Given the description of an element on the screen output the (x, y) to click on. 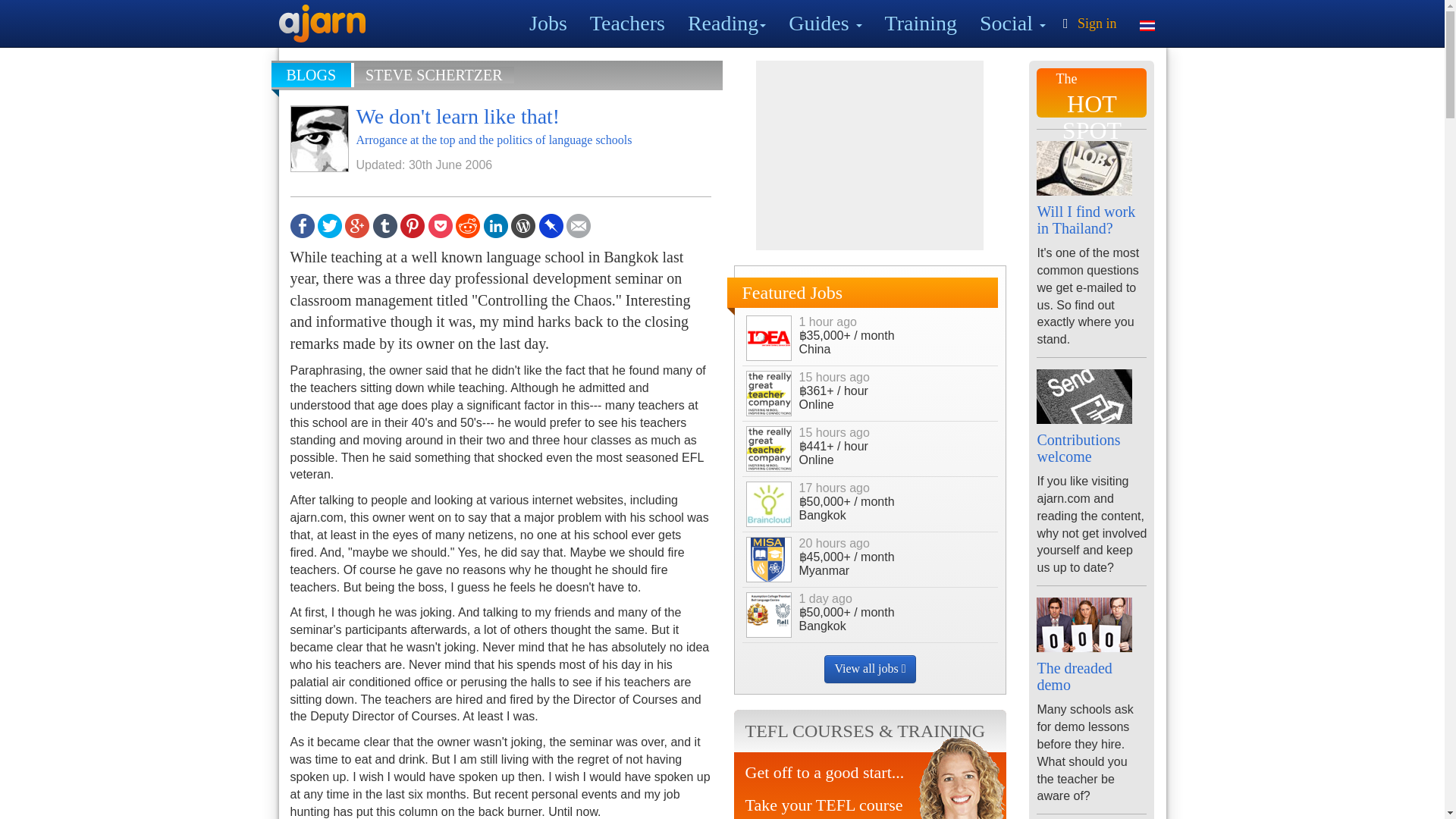
We don't learn like that! (458, 115)
Post to Tumblr (384, 223)
Sign in (1086, 23)
Share on Twitter (329, 223)
Share on LinkedIn (495, 223)
Jobs (548, 23)
STEVE SCHERTZER (433, 74)
Ajarn.com (322, 23)
Submit to Reddit (467, 223)
Teachers (627, 23)
